Given the description of an element on the screen output the (x, y) to click on. 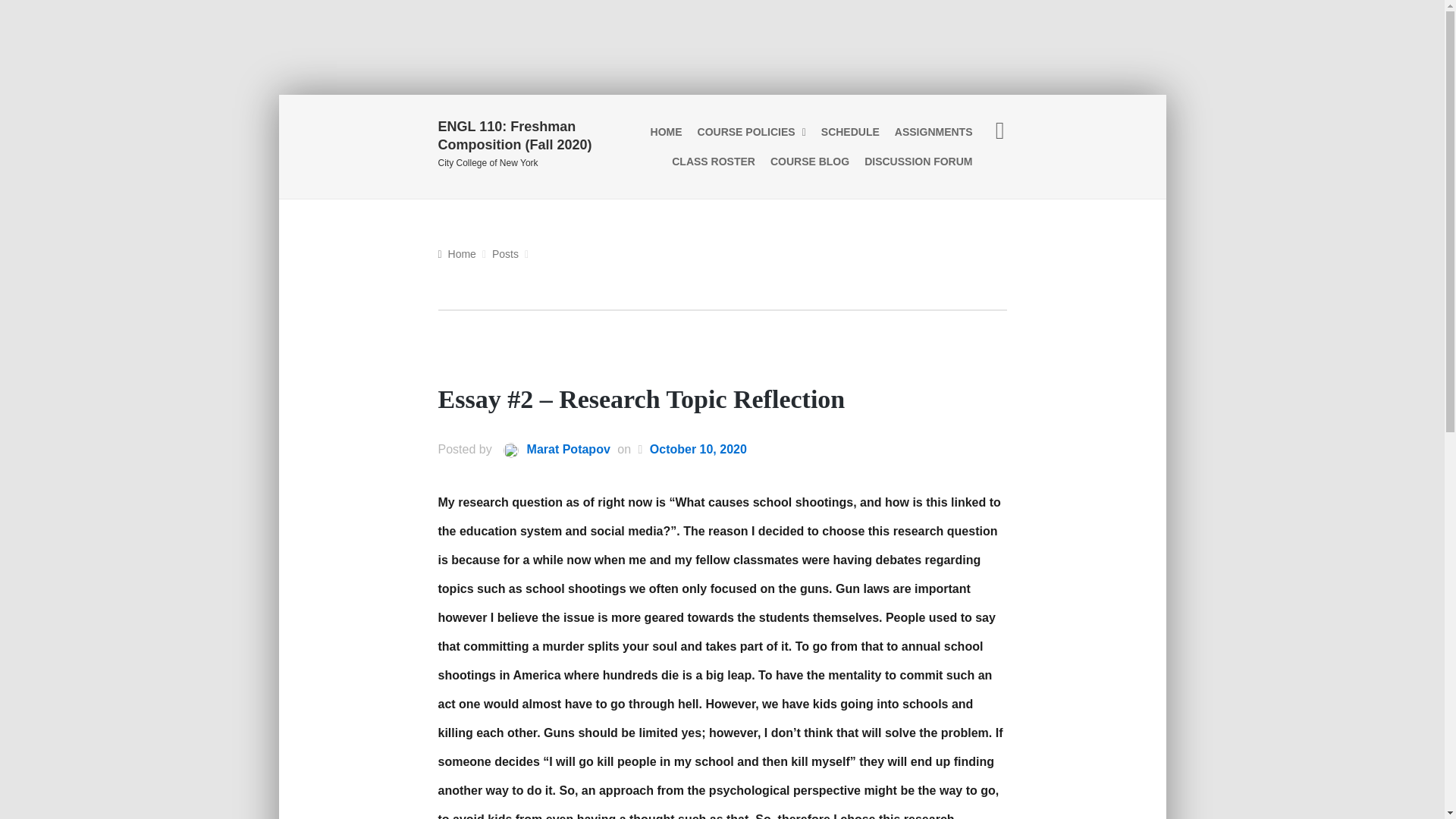
ASSIGNMENTS (932, 131)
COURSE POLICIES (751, 132)
go home (457, 254)
SCHEDULE (849, 131)
Posts (505, 255)
Posted by Marat Potapov (552, 450)
posted on October 10, 2020 (697, 450)
HOME (666, 131)
City College of New York (526, 163)
Home (457, 254)
